Given the description of an element on the screen output the (x, y) to click on. 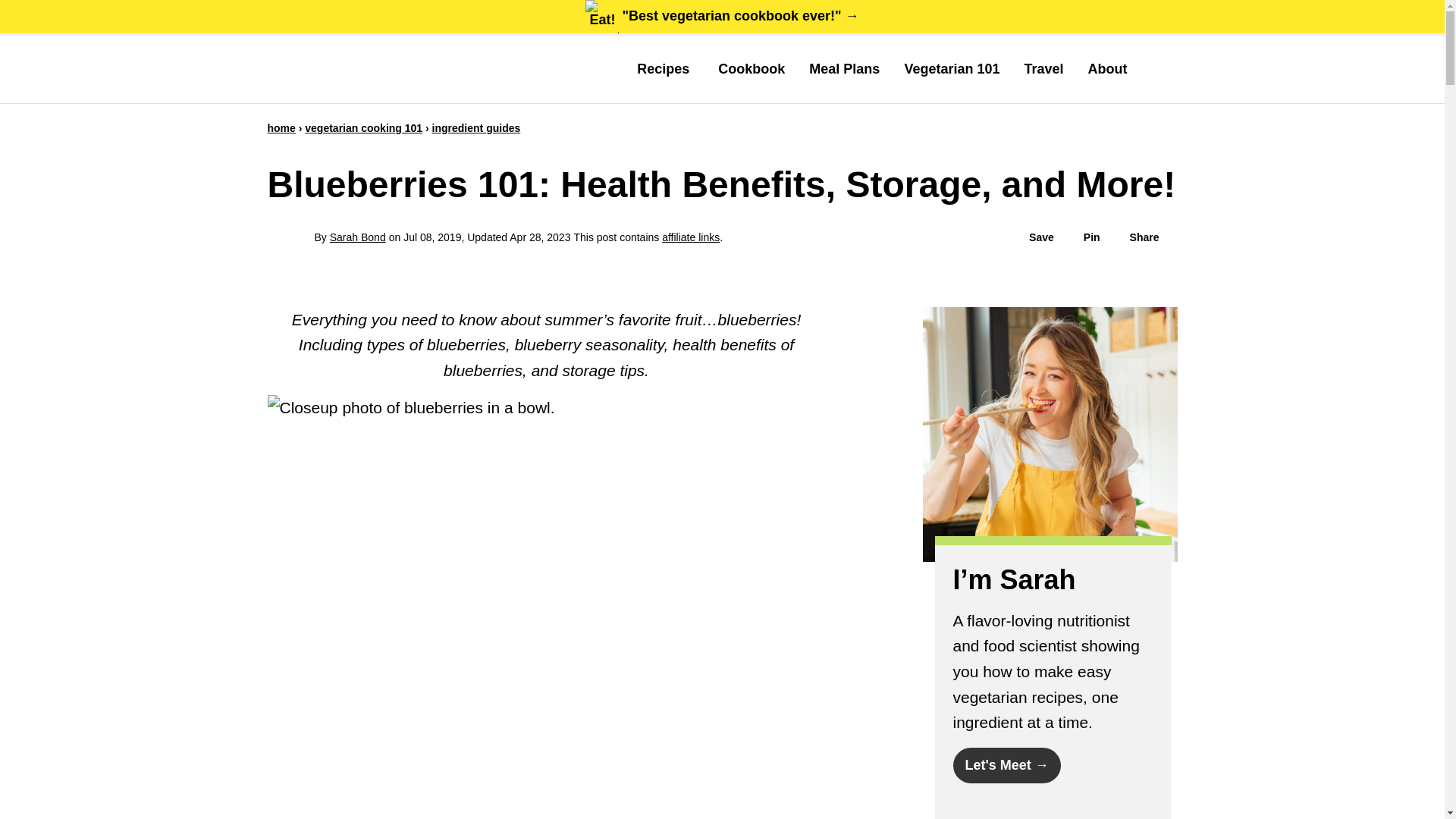
Recipes (665, 69)
Share on Facebook (1136, 237)
Share on Pinterest (1084, 237)
